Given the description of an element on the screen output the (x, y) to click on. 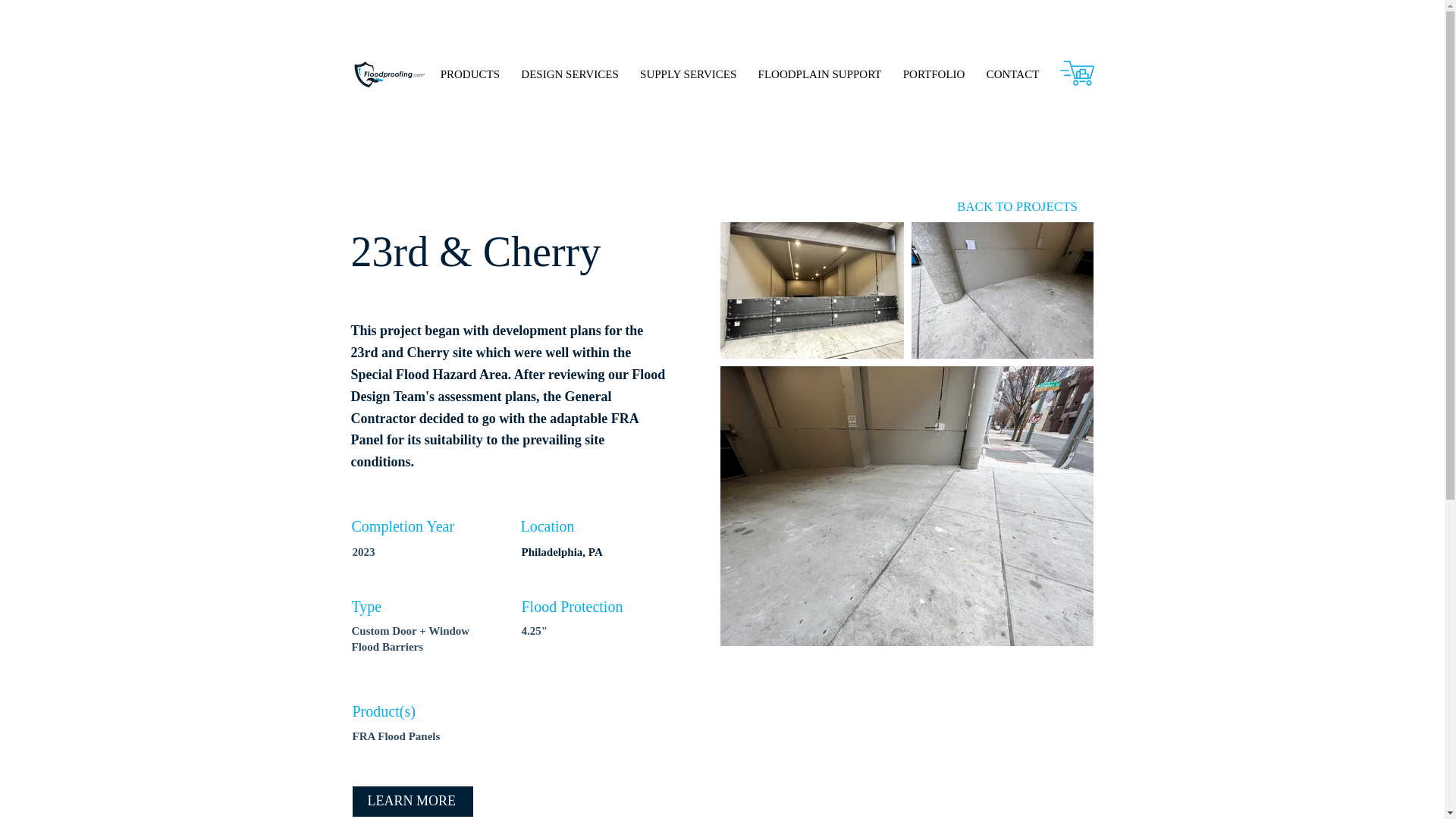
BACK TO PROJECTS (1017, 206)
FLOODPLAIN SUPPORT (819, 74)
CONTACT (1013, 74)
DESIGN SERVICES (569, 74)
LEARN MORE (411, 801)
PRODUCTS (470, 74)
SUPPLY SERVICES (688, 74)
PORTFOLIO (934, 74)
